Given the description of an element on the screen output the (x, y) to click on. 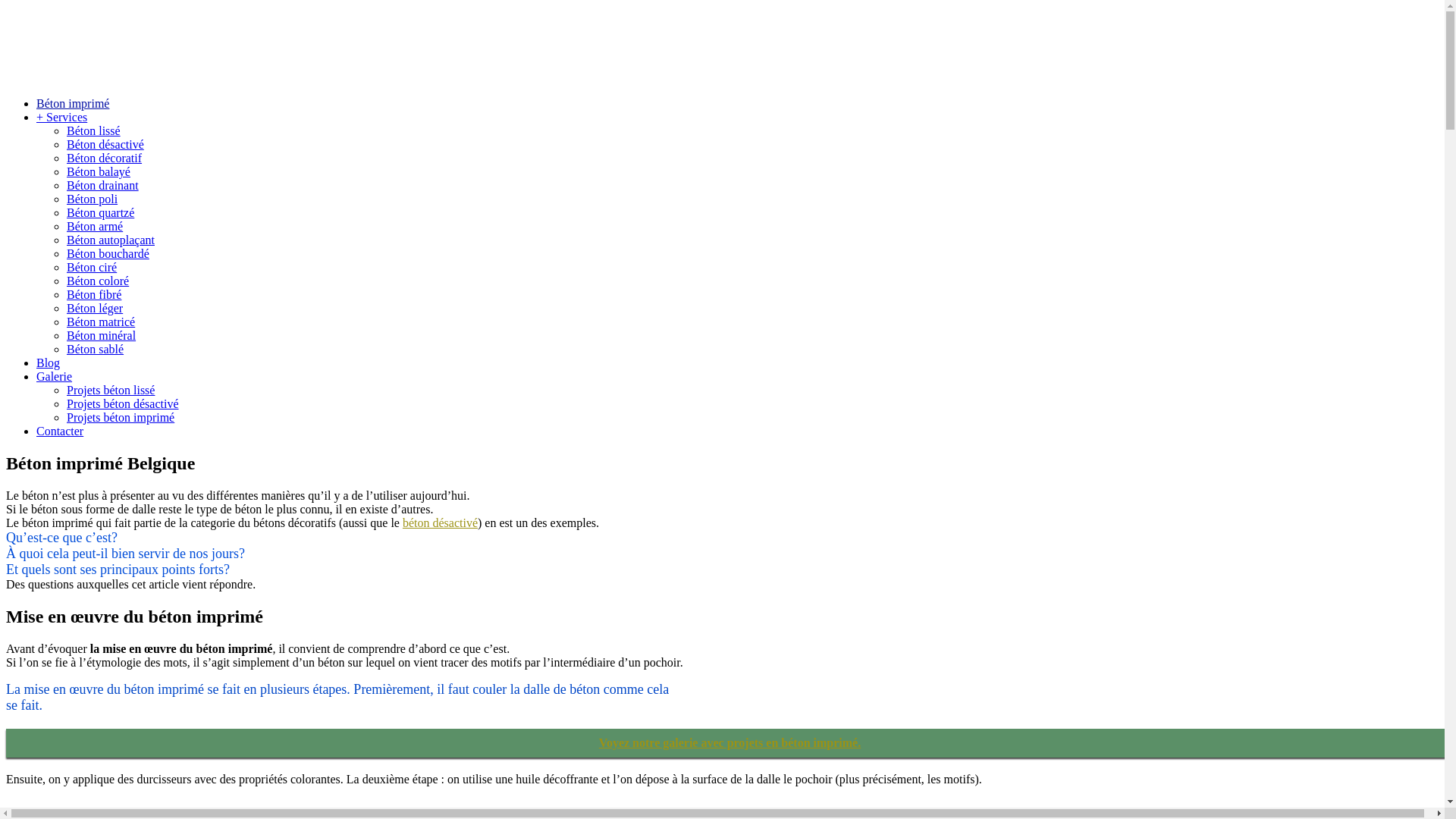
Skip to content Element type: text (5, 5)
Contacter Element type: text (59, 430)
Galerie Element type: text (54, 376)
Blog Element type: text (47, 362)
+ Services Element type: text (61, 116)
